Given the description of an element on the screen output the (x, y) to click on. 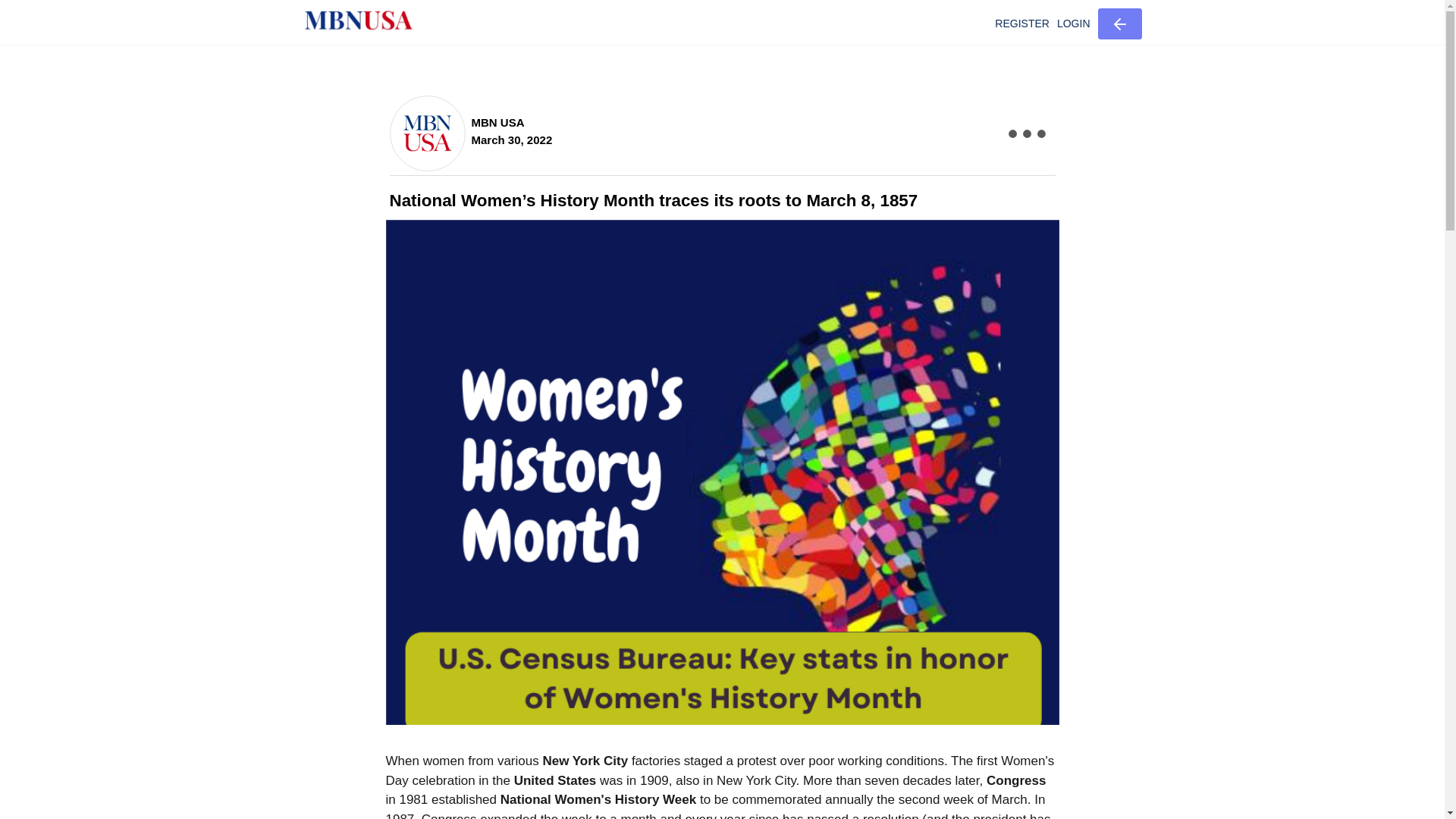
LOGIN (1073, 23)
REGISTER (1021, 23)
